Given the description of an element on the screen output the (x, y) to click on. 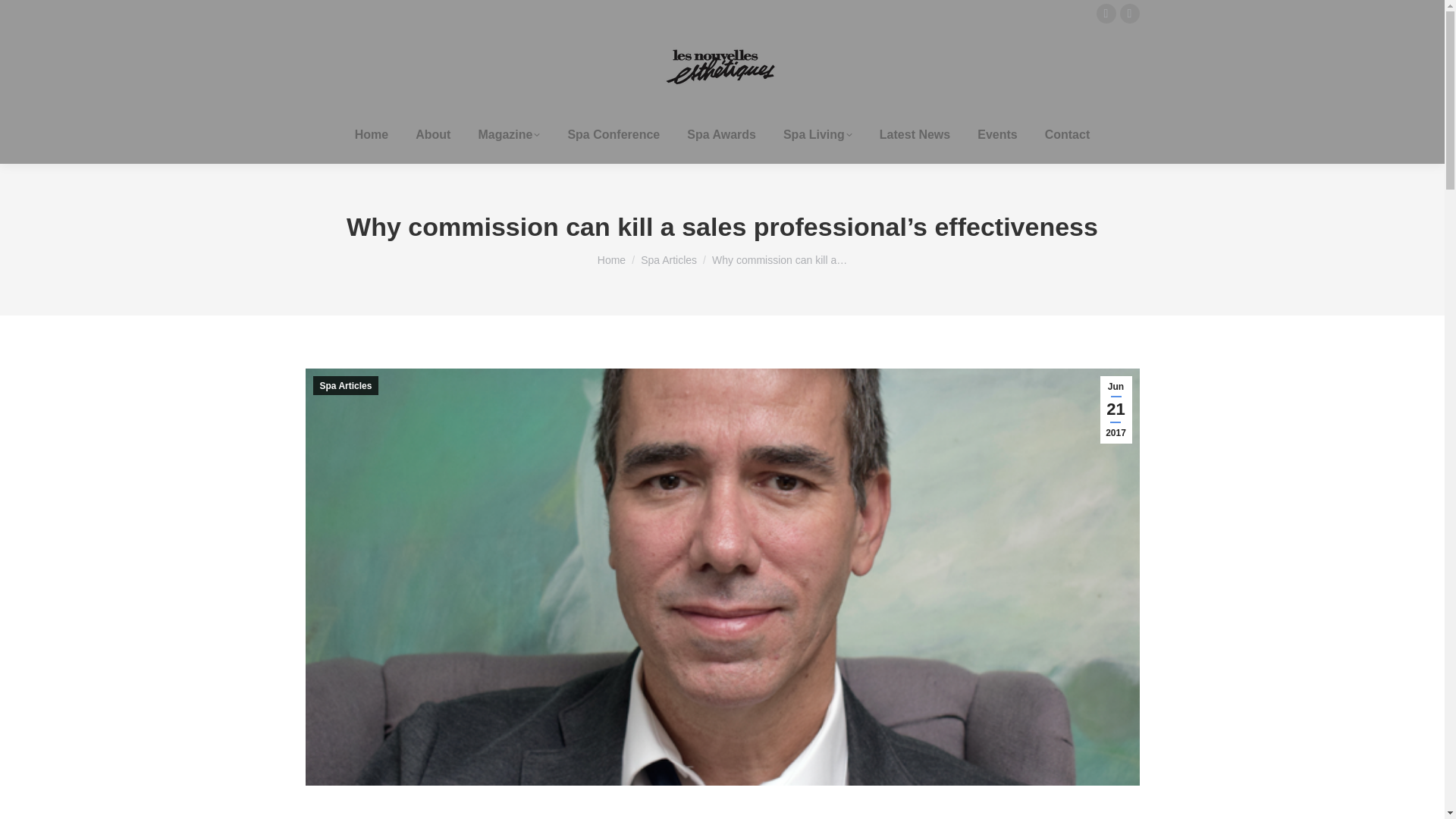
Events (997, 134)
About (432, 134)
Facebook page opens in new window (1128, 13)
Magazine (508, 134)
Spa Awards (721, 134)
Instagram page opens in new window (1106, 13)
Spa Living (818, 134)
Contact (1067, 134)
Instagram page opens in new window (1106, 13)
Facebook page opens in new window (1128, 13)
Spa Conference (613, 134)
Home (371, 134)
Latest News (914, 134)
Spa Articles (668, 259)
